Given the description of an element on the screen output the (x, y) to click on. 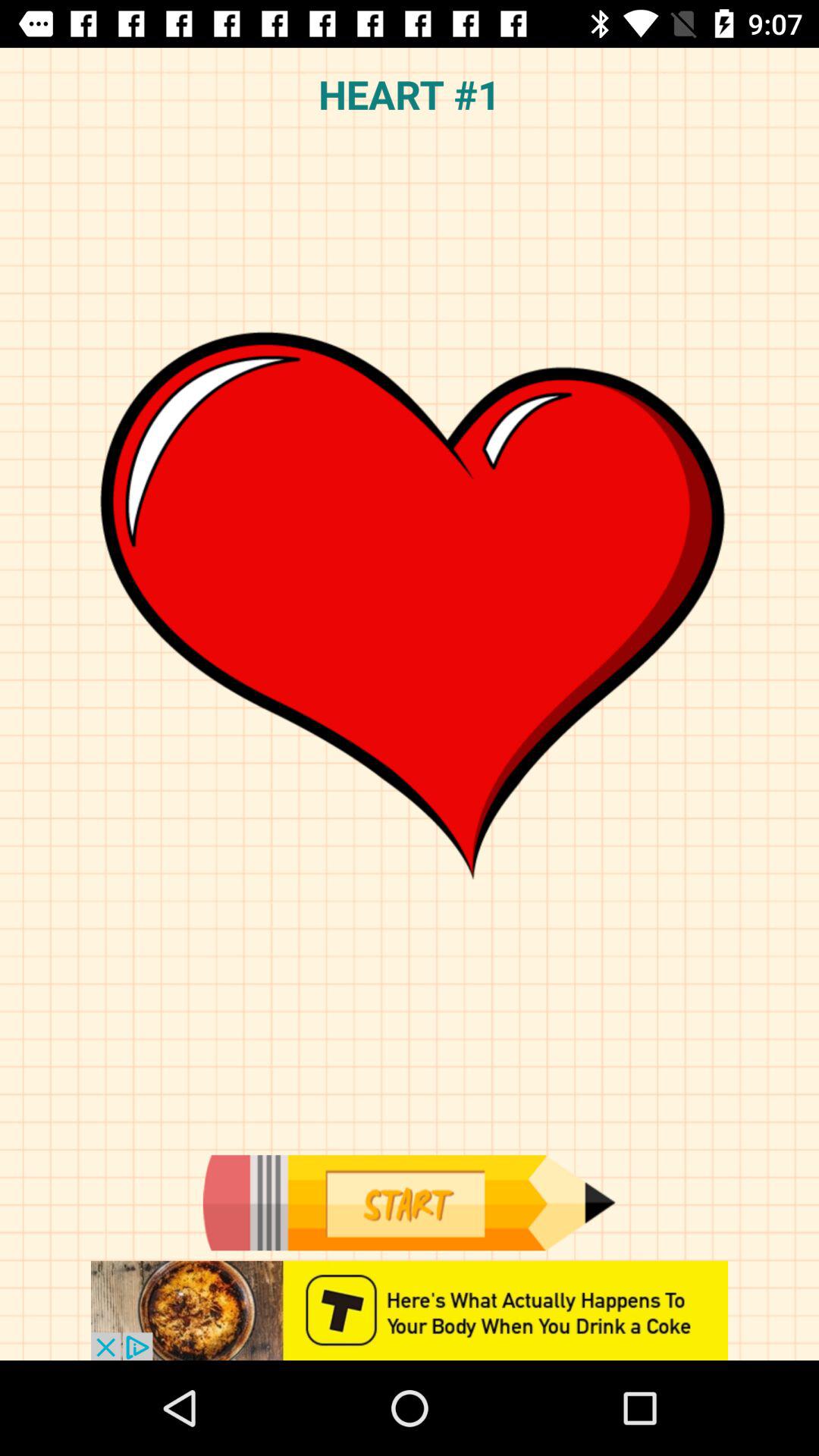
start botton (409, 1202)
